Given the description of an element on the screen output the (x, y) to click on. 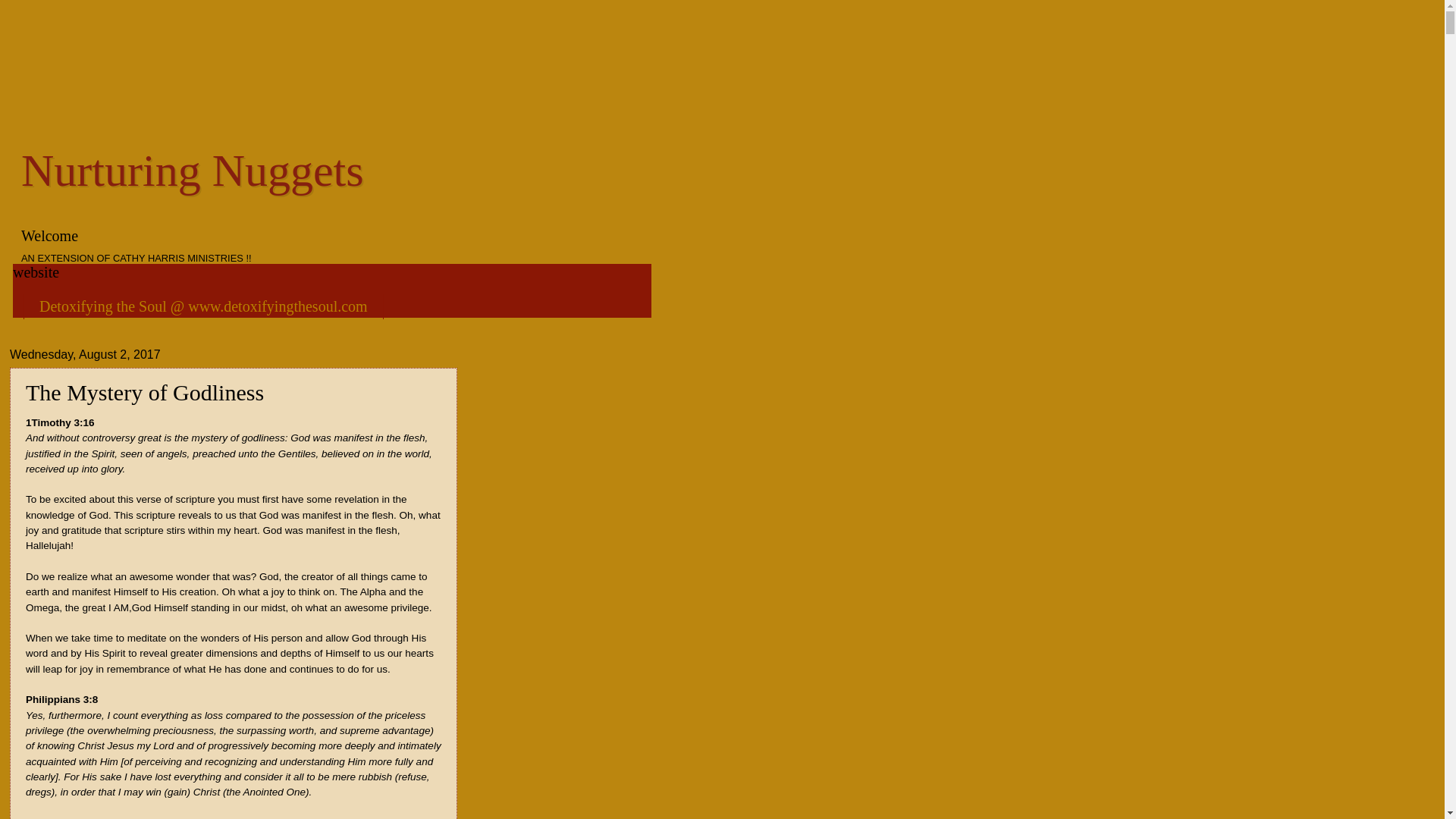
Nurturing Nuggets (192, 170)
